Given the description of an element on the screen output the (x, y) to click on. 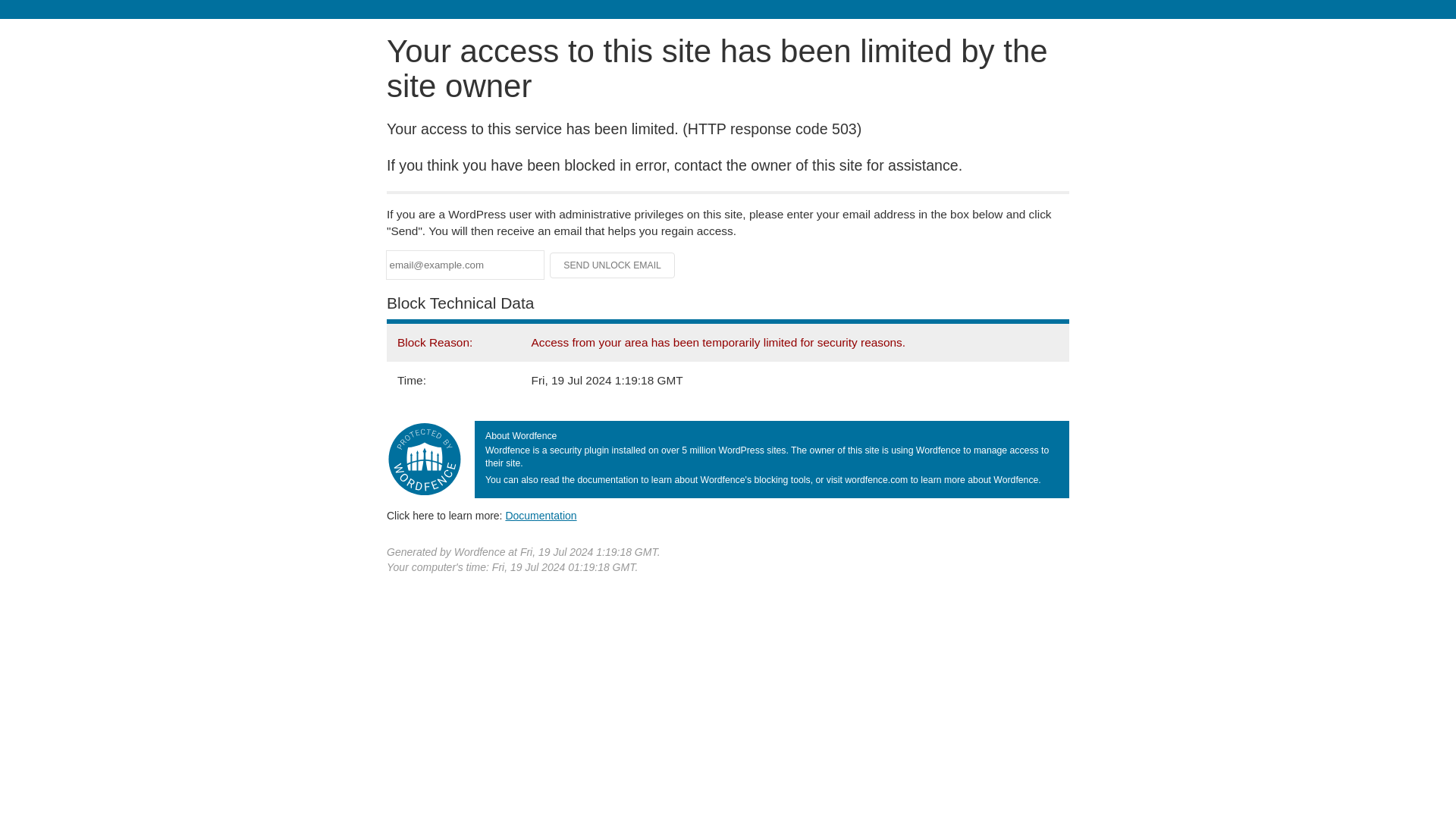
Documentation (540, 515)
Send Unlock Email (612, 265)
Send Unlock Email (612, 265)
